Given the description of an element on the screen output the (x, y) to click on. 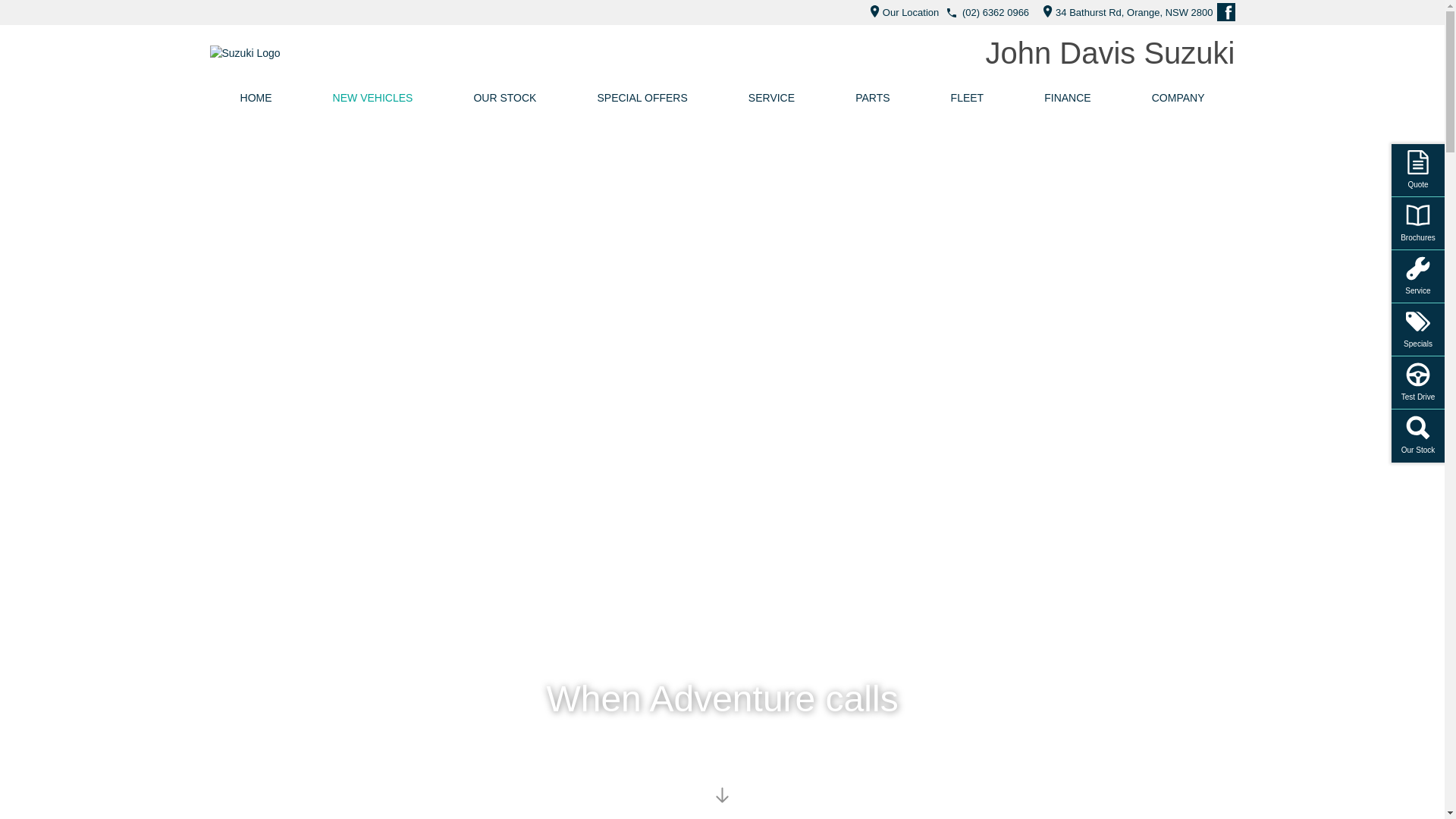
34 Bathurst Rd, Orange, NSW 2800 Element type: text (1123, 12)
(02) 6362 0966 Element type: text (995, 12)
PARTS Element type: text (872, 97)
SPECIAL OFFERS Element type: text (641, 97)
HOME Element type: text (255, 97)
OUR STOCK Element type: text (504, 97)
SERVICE Element type: text (771, 97)
FLEET Element type: text (967, 97)
Our Location Element type: text (900, 12)
COMPANY Element type: text (1178, 97)
NEW VEHICLES Element type: text (372, 97)
FINANCE Element type: text (1067, 97)
Facebook Element type: text (1225, 12)
John Davis Suzuki Element type: text (1109, 52)
